Given the description of an element on the screen output the (x, y) to click on. 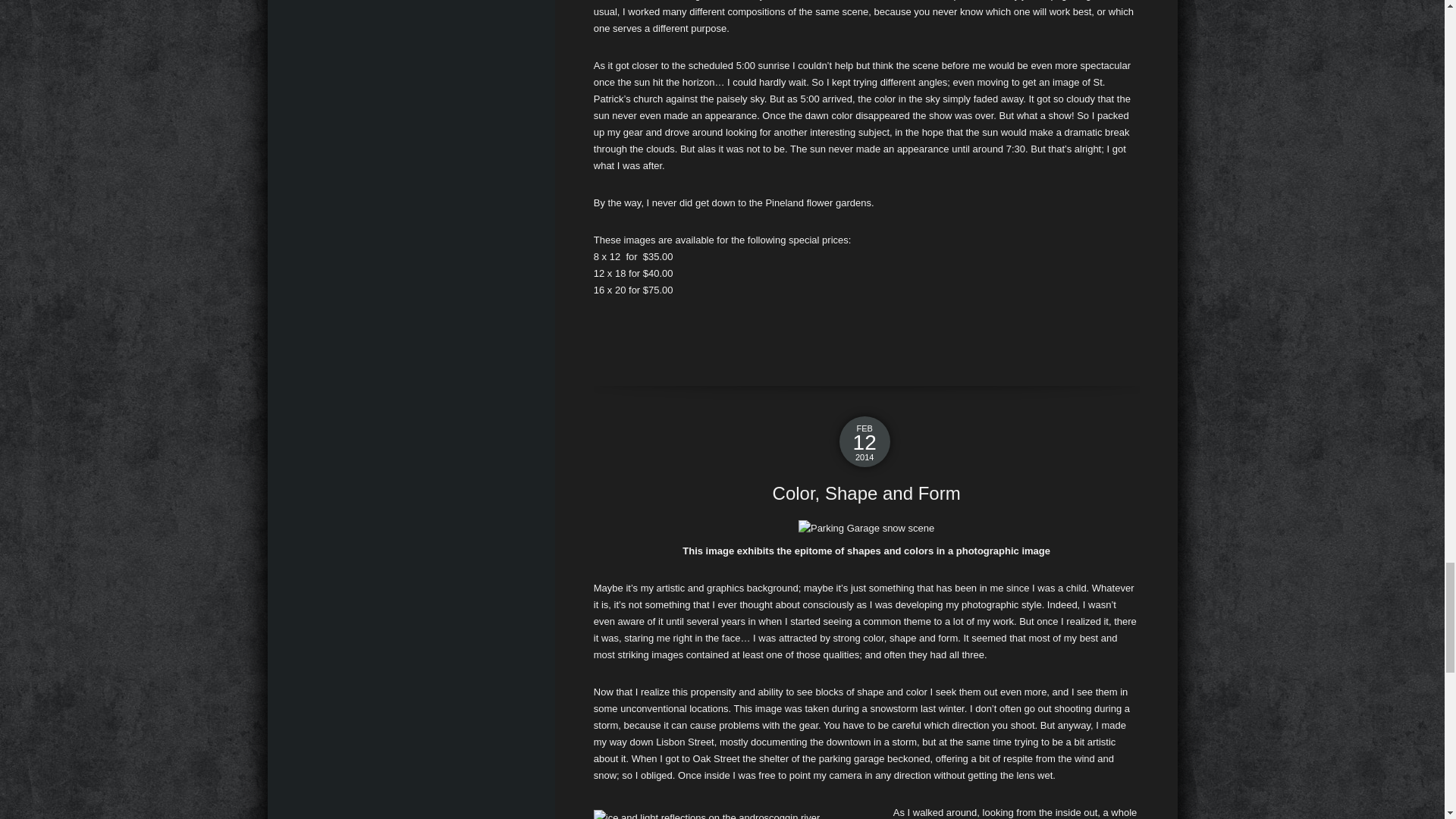
Color, Shape and Form (867, 493)
